Given the description of an element on the screen output the (x, y) to click on. 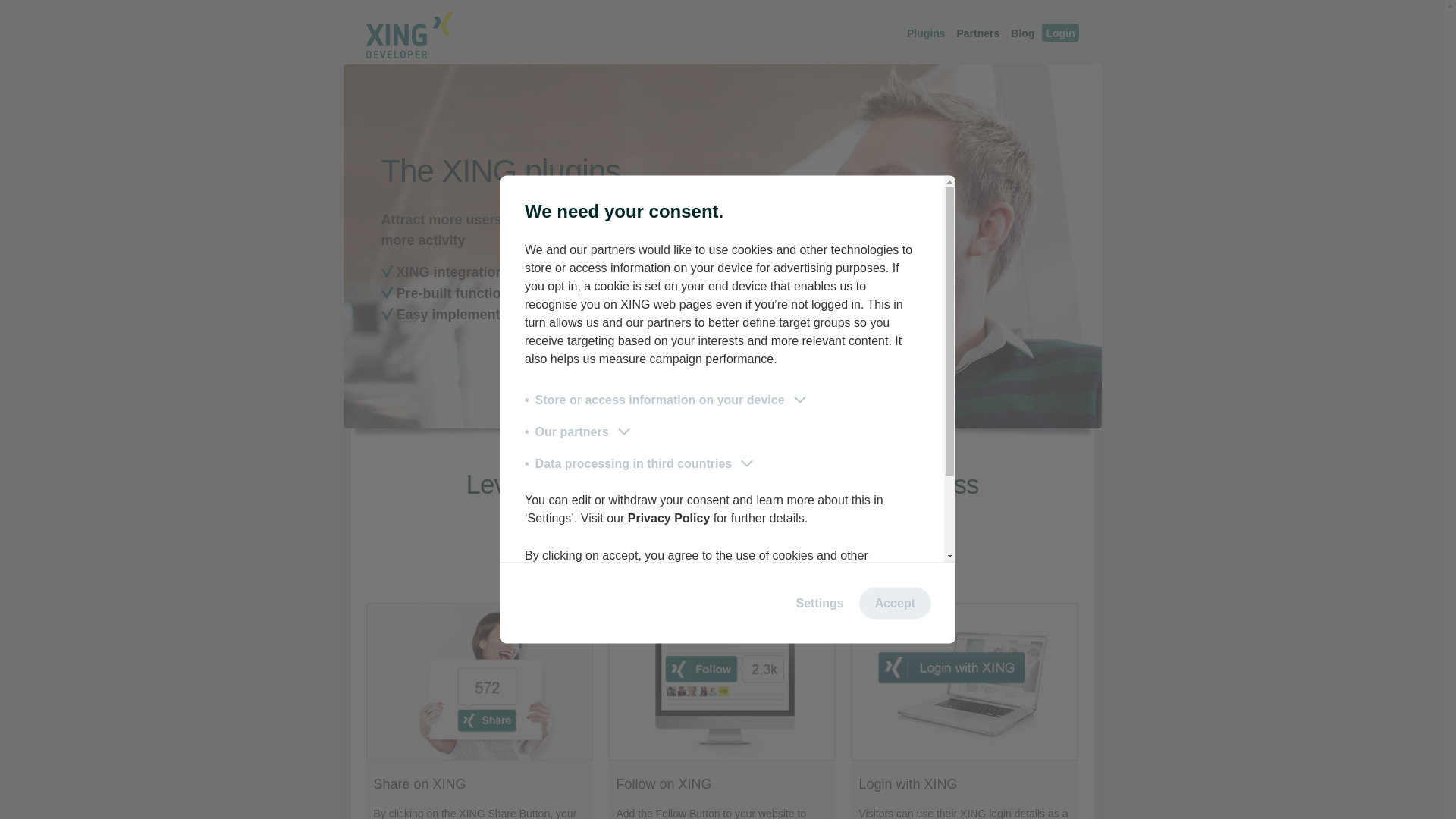
Store or access information on your device (666, 400)
Plugins (925, 37)
Settings (820, 603)
Login (1060, 32)
Blog (1022, 37)
Partners (977, 37)
Our partners (578, 432)
Data processing in third countries (639, 464)
Home (400, 54)
Accept (895, 603)
